Given the description of an element on the screen output the (x, y) to click on. 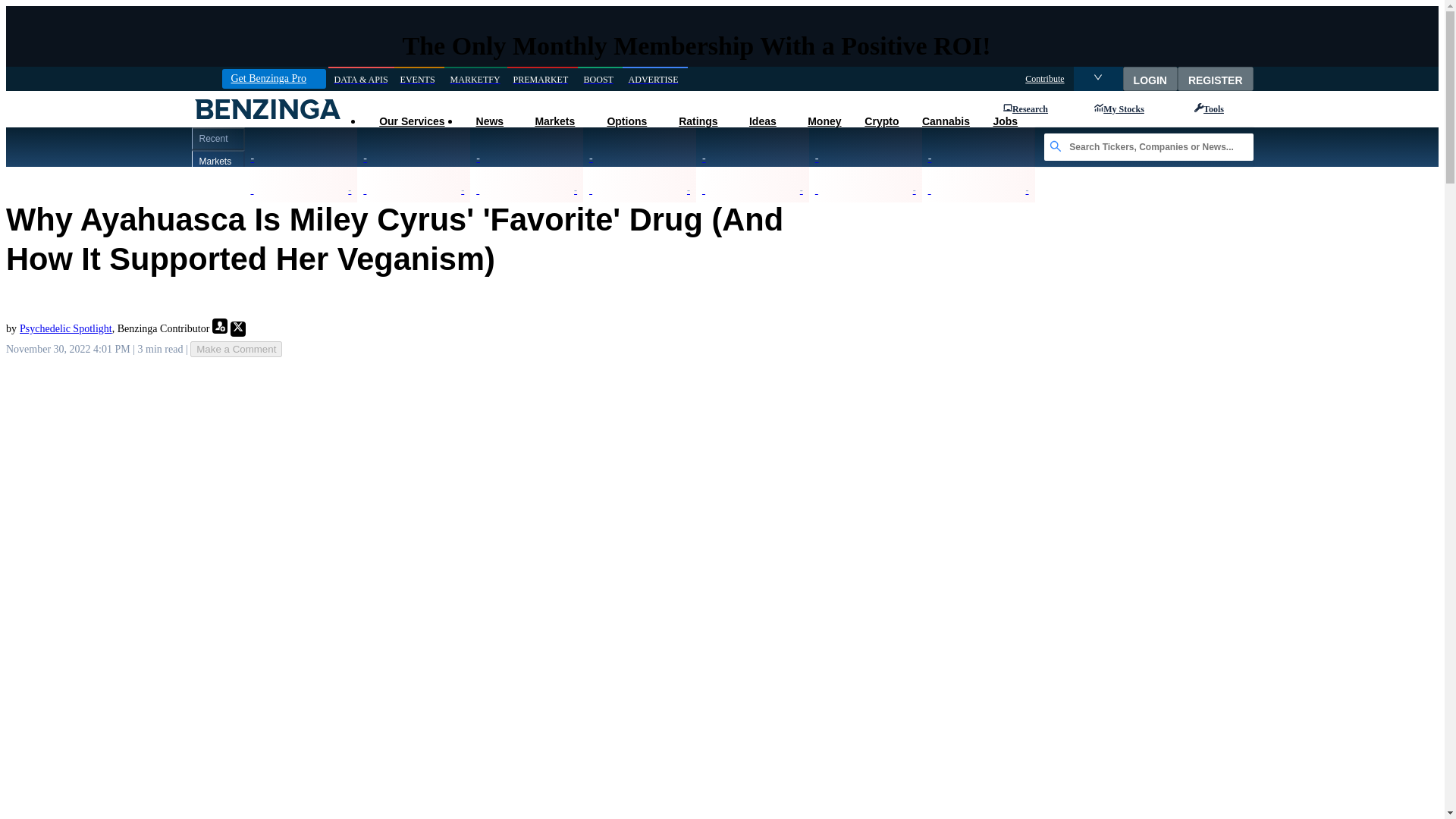
News (489, 121)
BOOST (600, 78)
EVENTS (419, 78)
Get Benzinga Pro (272, 78)
PREMARKET (542, 78)
Our Services (411, 121)
ADVERTISE (655, 78)
REGISTER (1215, 78)
News (489, 121)
MARKETFY (475, 78)
Our Services (411, 121)
LOGIN (1149, 78)
Contribute (1044, 78)
